Given the description of an element on the screen output the (x, y) to click on. 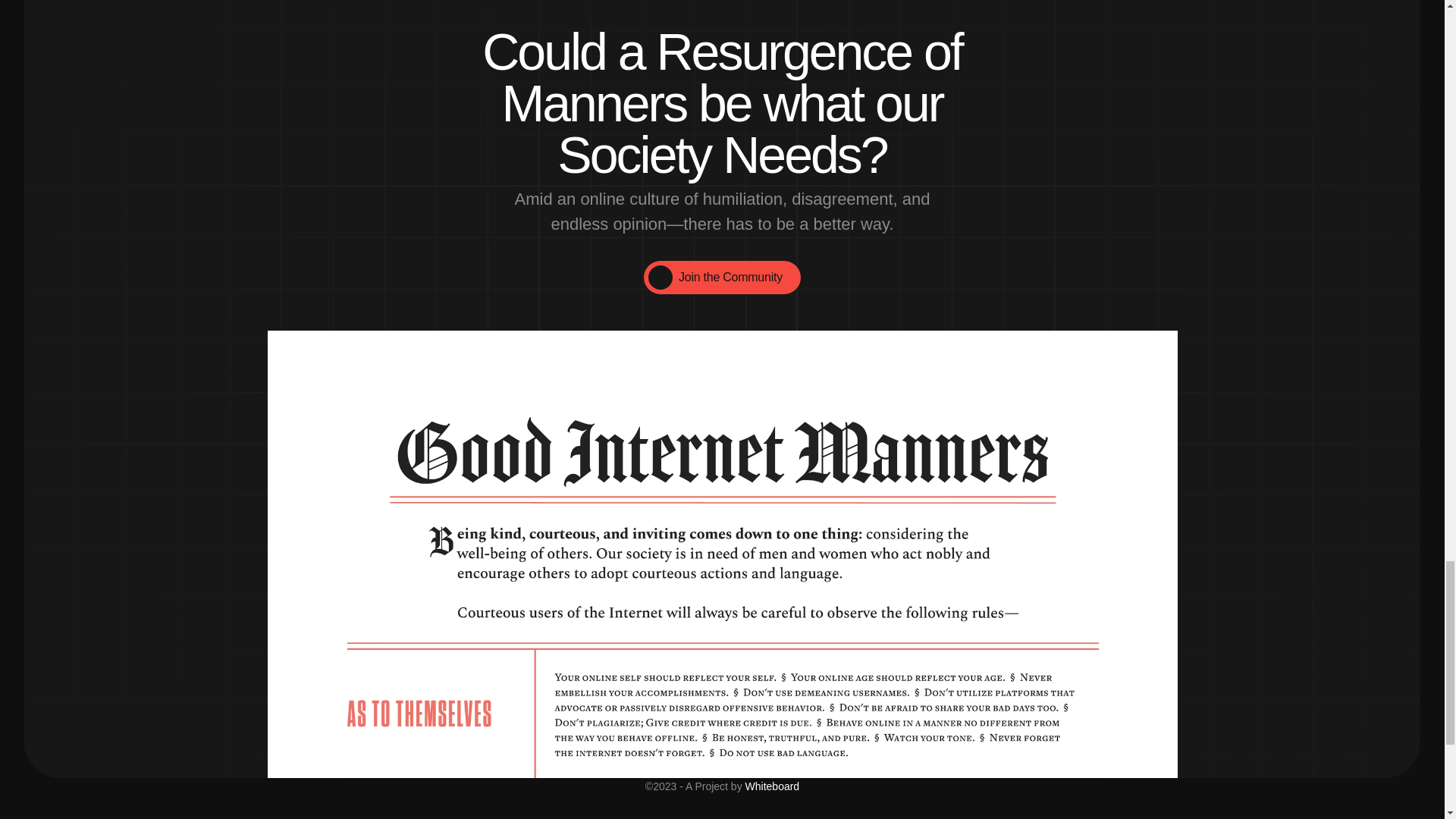
Join the Community (721, 277)
